Given the description of an element on the screen output the (x, y) to click on. 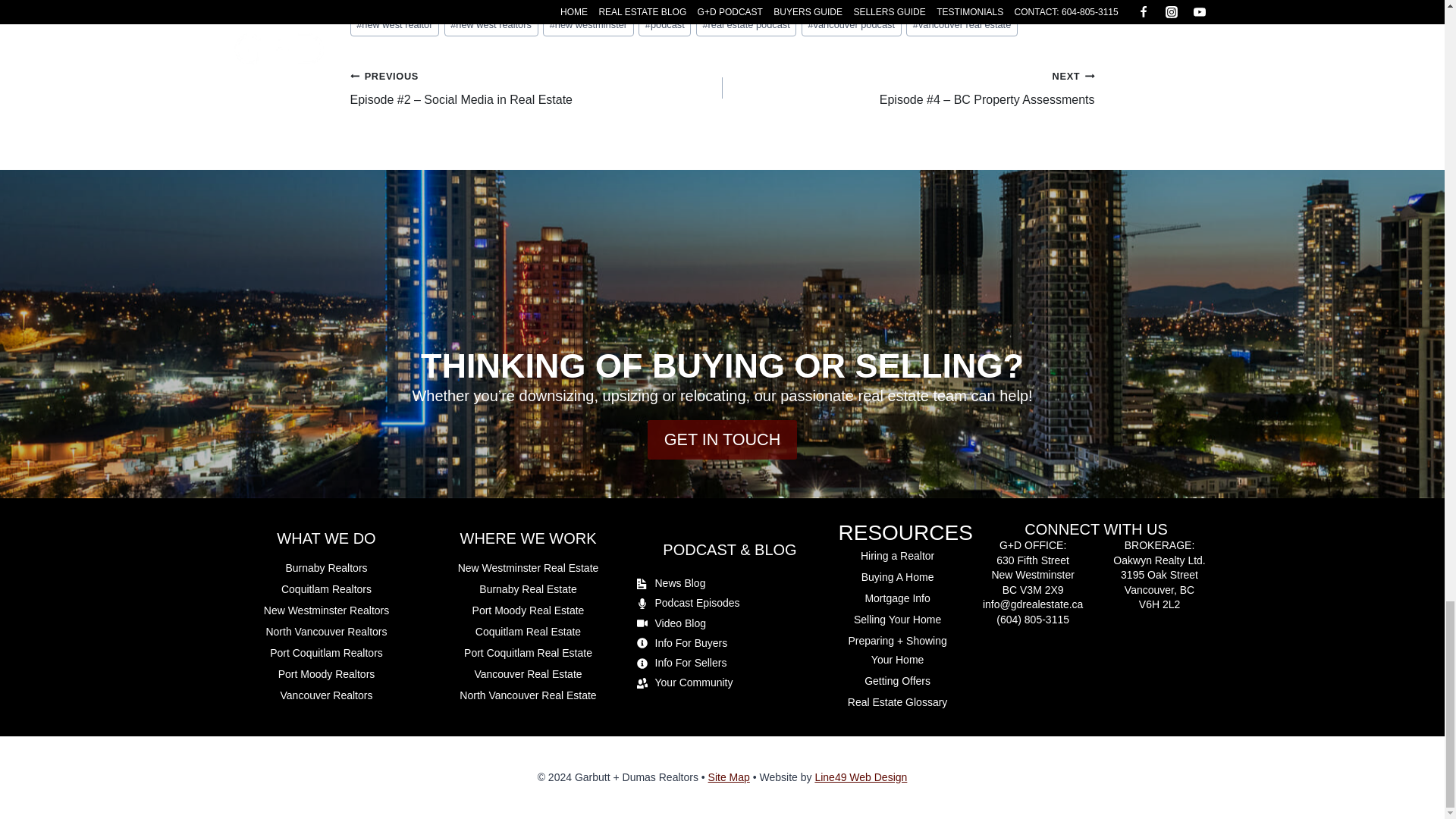
real estate podcast (745, 24)
new westminster (588, 24)
burnaby homes (662, 3)
vancouver podcast (851, 24)
burnaby condos (570, 3)
burnaby real estate (760, 3)
podcast (664, 24)
new west real estate (981, 3)
new west realtor (394, 24)
new west realtors (491, 24)
vancouver real estate (961, 24)
bc energy (381, 3)
bc energy step code (469, 3)
coquitlam real estate (869, 3)
